Given the description of an element on the screen output the (x, y) to click on. 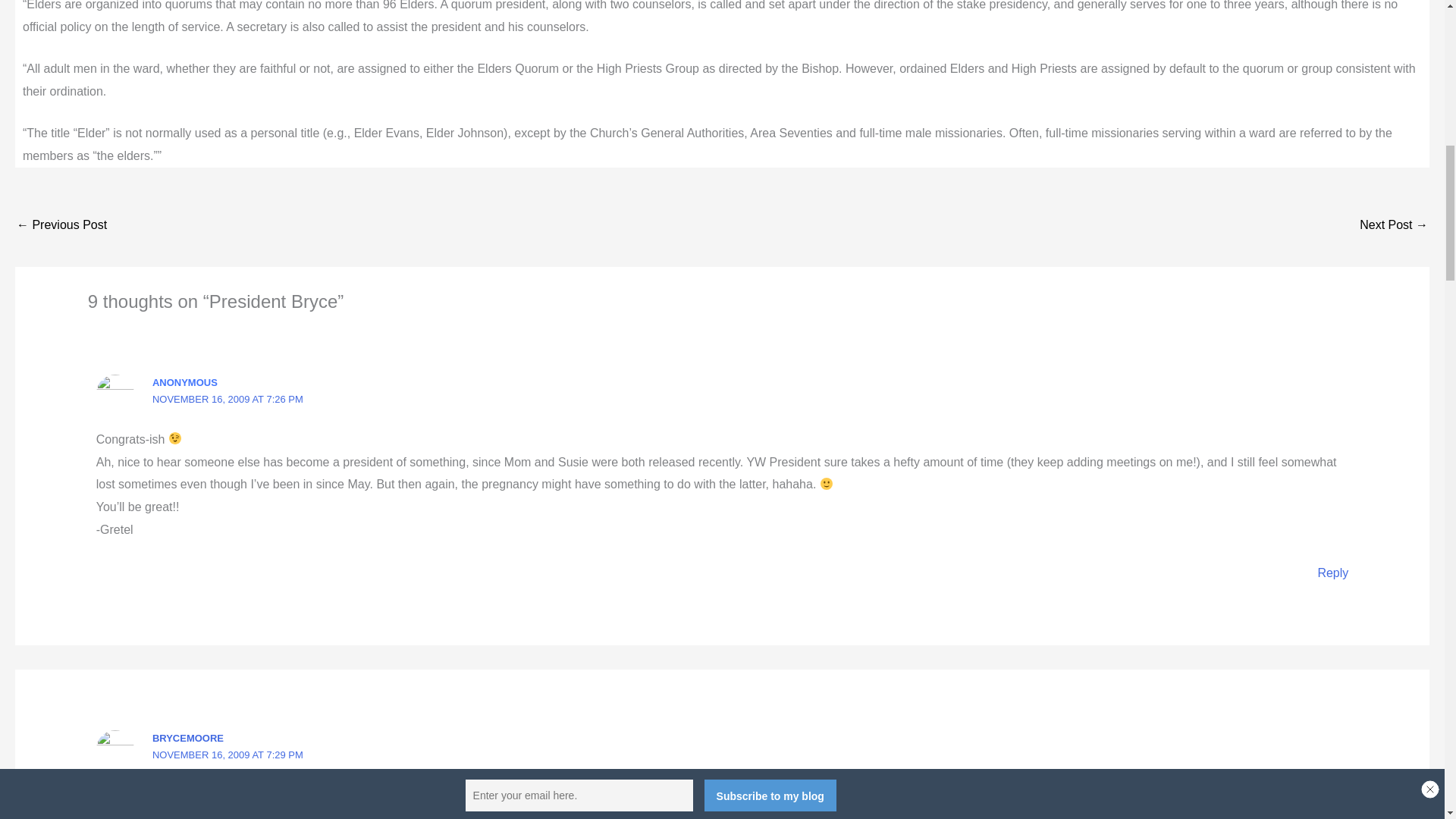
Pink Eye, DKC Update and a Nostalgia Fail Movie Review (1393, 226)
NOVEMBER 16, 2009 AT 7:26 PM (227, 398)
NOVEMBER 16, 2009 AT 7:29 PM (227, 754)
Reply (1332, 572)
BRYCEMOORE (188, 737)
Have You Read Ichabod? (61, 226)
